Given the description of an element on the screen output the (x, y) to click on. 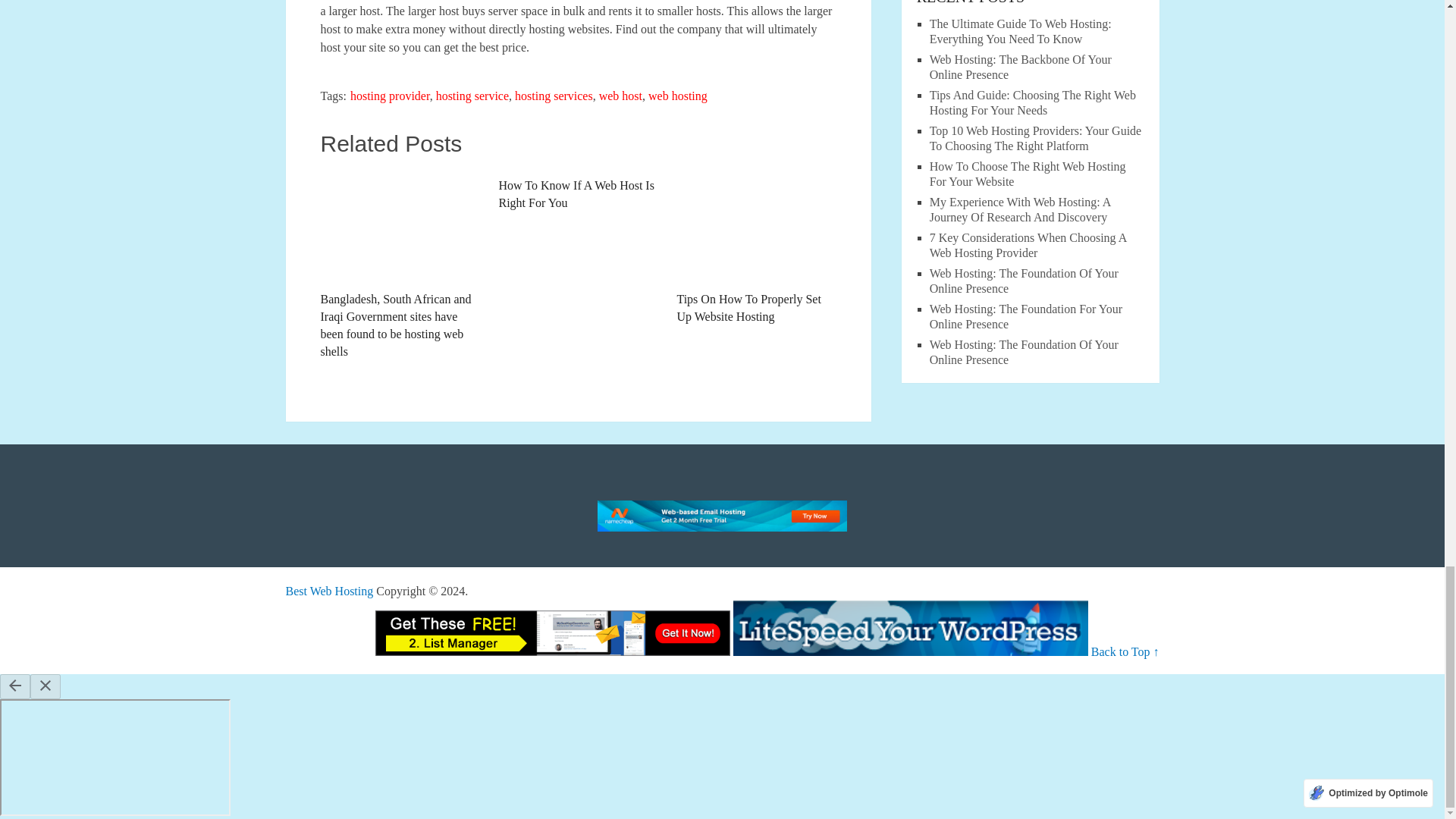
hosting service (471, 95)
hosting services (553, 95)
Tips On How To Properly Set Up Website Hosting (756, 246)
web host (620, 95)
web hosting (677, 95)
How To Know If A Web Host Is Right For You (577, 189)
hosting provider (389, 95)
